Given the description of an element on the screen output the (x, y) to click on. 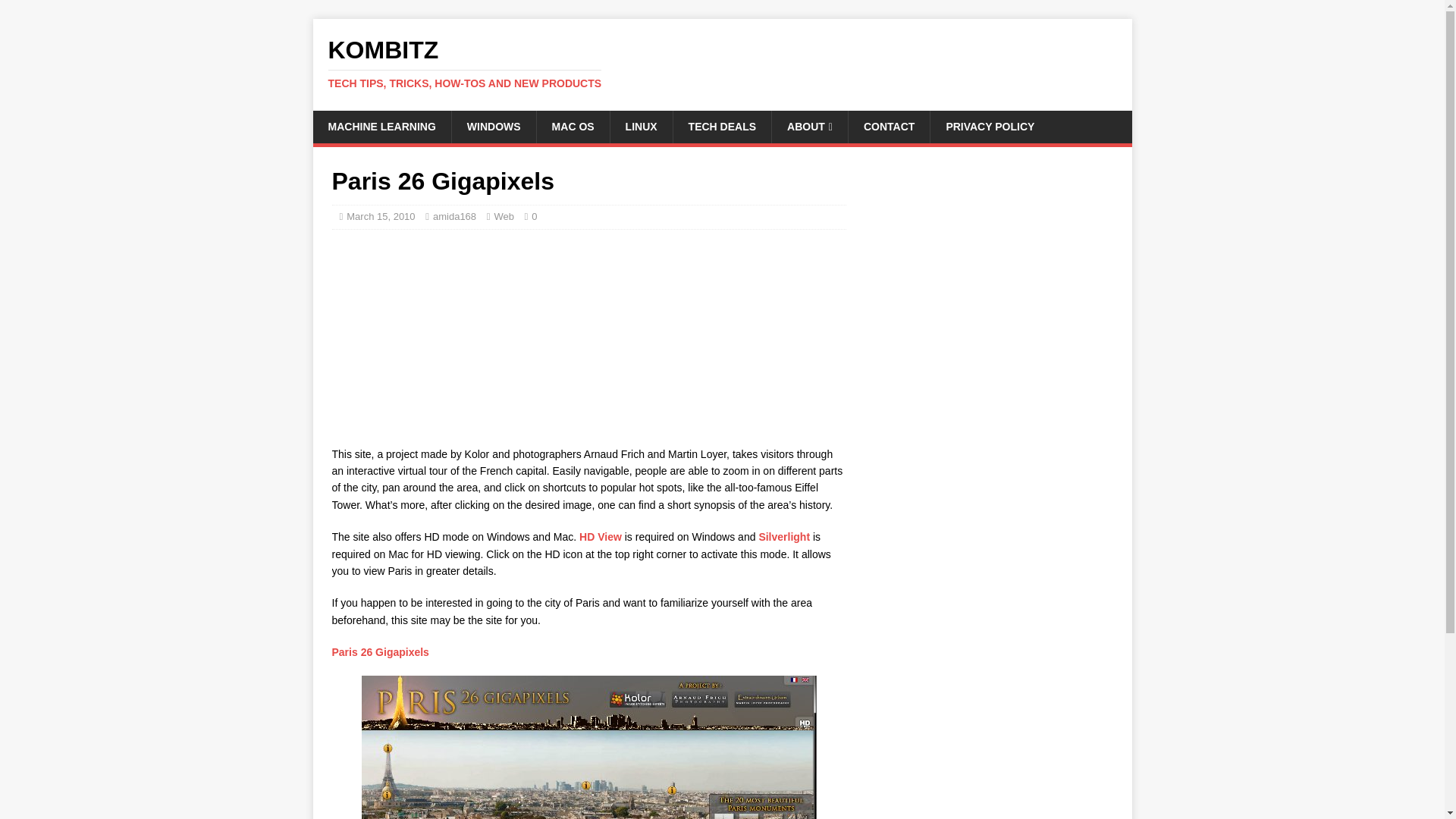
ABOUT (809, 126)
CONTACT (888, 126)
Silverlight (785, 536)
Paris 26 Gigapixels (380, 652)
amida168 (454, 215)
PRIVACY POLICY (989, 126)
TECH DEALS (721, 63)
March 15, 2010 (721, 126)
paris-26 (380, 215)
MACHINE LEARNING (588, 747)
MAC OS (381, 126)
LINUX (572, 126)
WINDOWS (641, 126)
Web (493, 126)
